Given the description of an element on the screen output the (x, y) to click on. 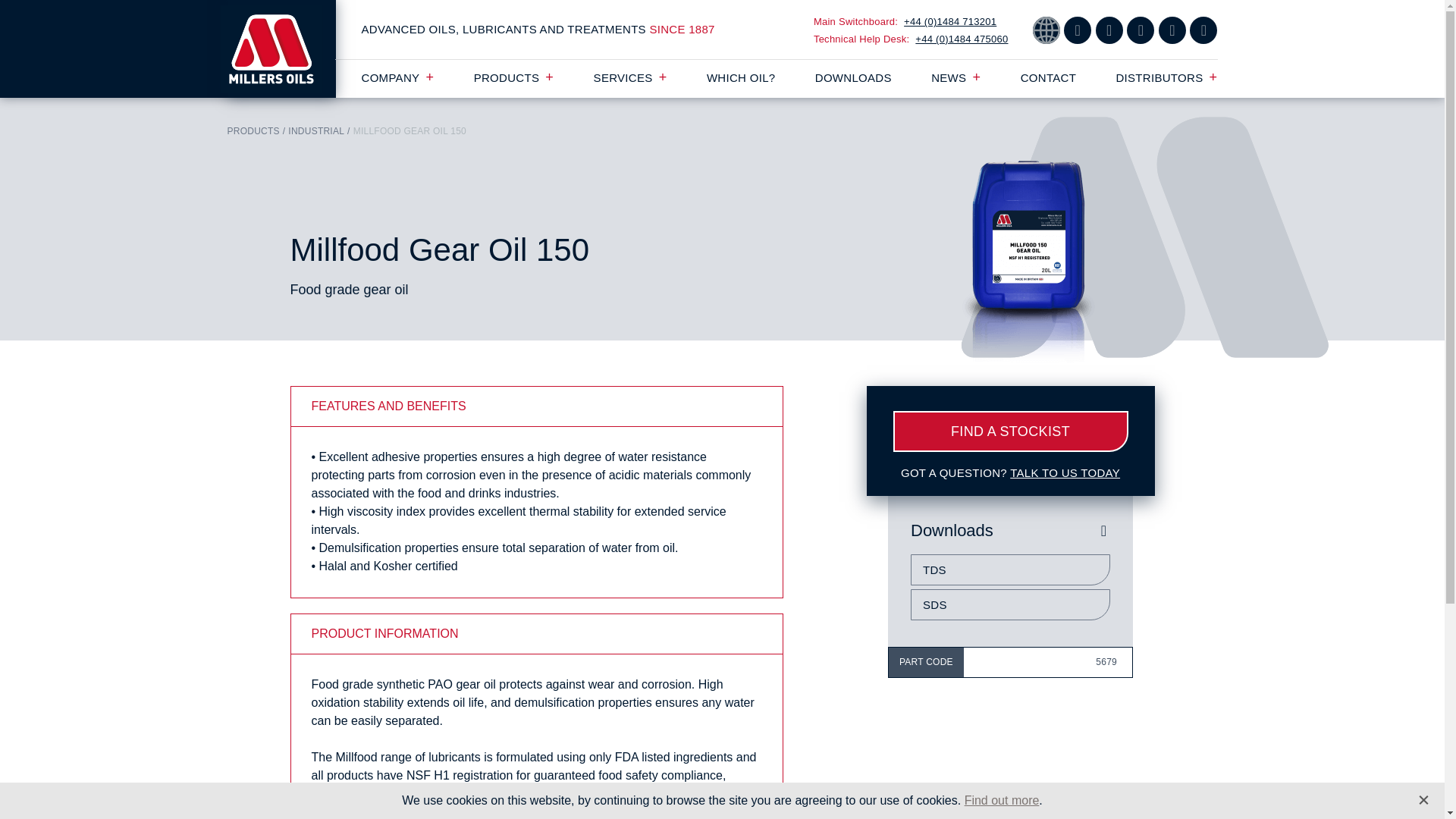
COMPANY (397, 77)
NEWS (955, 77)
SERVICES (630, 77)
Millers Oils (280, 48)
WHICH OIL? (741, 77)
DOWNLOADS (853, 77)
PRODUCTS (514, 77)
